Given the description of an element on the screen output the (x, y) to click on. 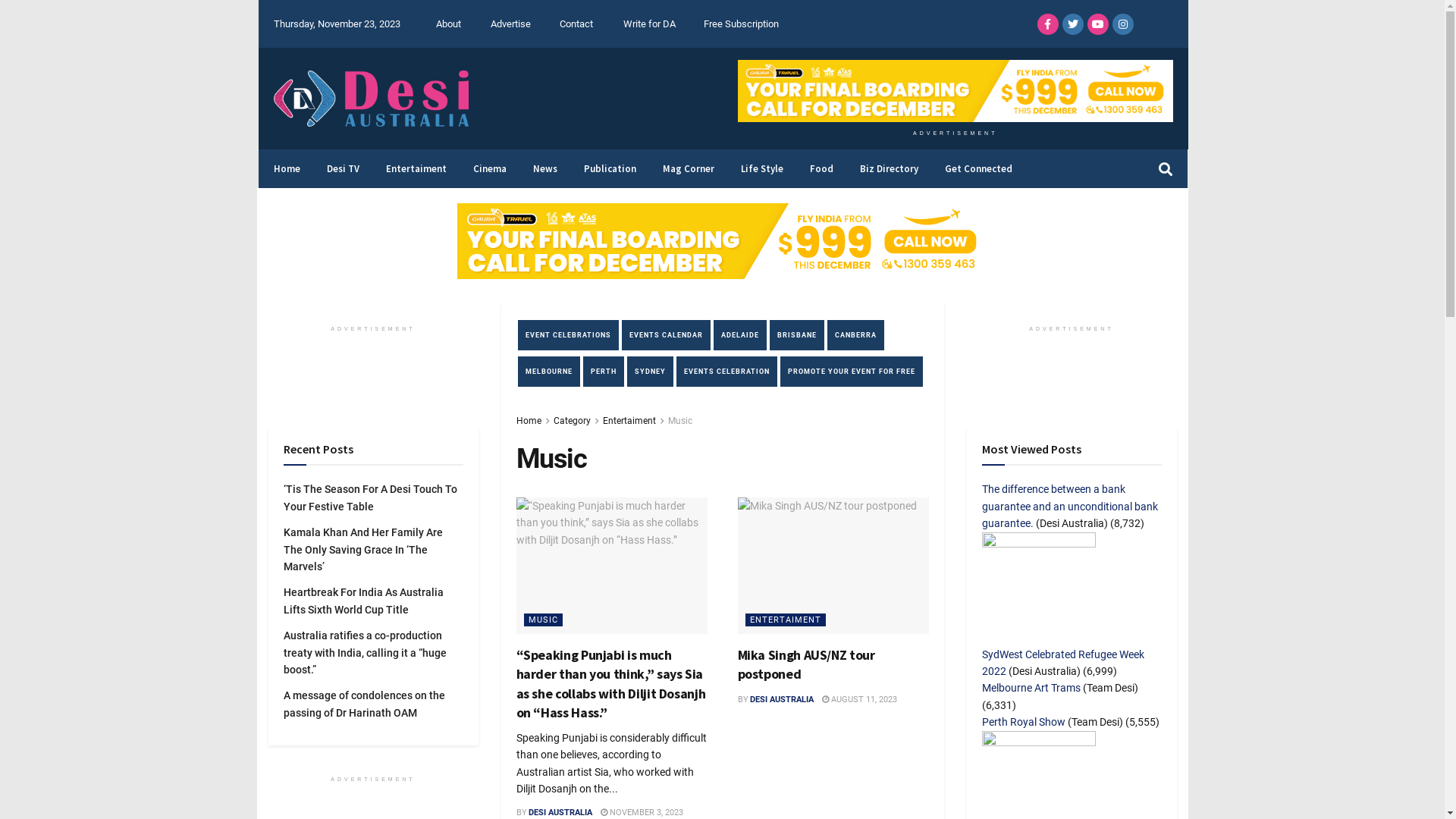
Get Connected Element type: text (976, 168)
A message of condolences on the passing of Dr Harinath OAM Element type: text (364, 703)
Perth Royal Show Element type: text (1022, 721)
Write for DA Element type: text (649, 23)
MUSIC Element type: text (542, 619)
Mika Singh AUS/NZ tour postponed Element type: text (805, 664)
EVENT CELEBRATIONS Element type: text (567, 335)
Entertaiment Element type: text (414, 168)
PERTH Element type: text (602, 371)
Melbourne Art Trams Element type: text (1030, 687)
MELBOURNE Element type: text (548, 371)
Free Subscription Element type: text (740, 23)
Food Element type: text (819, 168)
News Element type: text (542, 168)
Category Element type: text (571, 420)
Life Style Element type: text (759, 168)
ENTERTAIMENT Element type: text (784, 619)
SYDNEY Element type: text (649, 371)
Home Element type: text (527, 420)
SydWest Celebrated Refugee Week 2022 Element type: text (1062, 662)
BRISBANE Element type: text (795, 335)
DESI AUSTRALIA Element type: text (781, 699)
Advertise Element type: text (510, 23)
Cinema Element type: text (487, 168)
NOVEMBER 3, 2023 Element type: text (641, 812)
Desi TV Element type: text (340, 168)
Biz Directory Element type: text (886, 168)
AUGUST 11, 2023 Element type: text (859, 699)
Entertaiment Element type: text (628, 420)
EVENTS CELEBRATION Element type: text (726, 371)
ADELAIDE Element type: text (738, 335)
Mag Corner Element type: text (686, 168)
Music Element type: text (679, 420)
Publication Element type: text (607, 168)
Contact Element type: text (576, 23)
EVENTS CALENDAR Element type: text (665, 335)
DESI AUSTRALIA Element type: text (560, 812)
CANBERRA Element type: text (854, 335)
PROMOTE YOUR EVENT FOR FREE Element type: text (850, 371)
About Element type: text (448, 23)
Search Element type: hover (1172, 167)
Home Element type: text (284, 168)
